Given the description of an element on the screen output the (x, y) to click on. 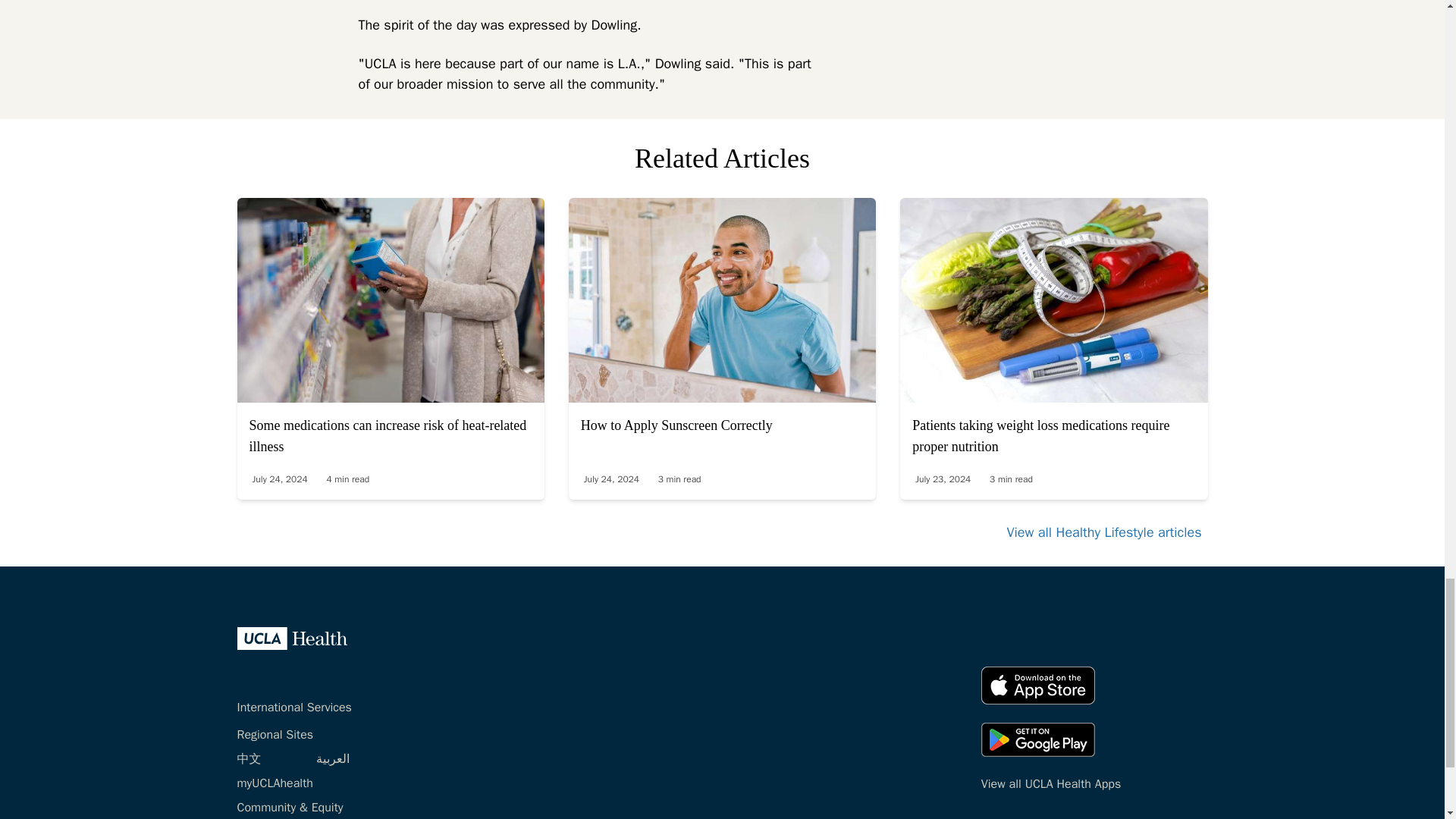
myUCLAhealth Login. (274, 783)
